Given the description of an element on the screen output the (x, y) to click on. 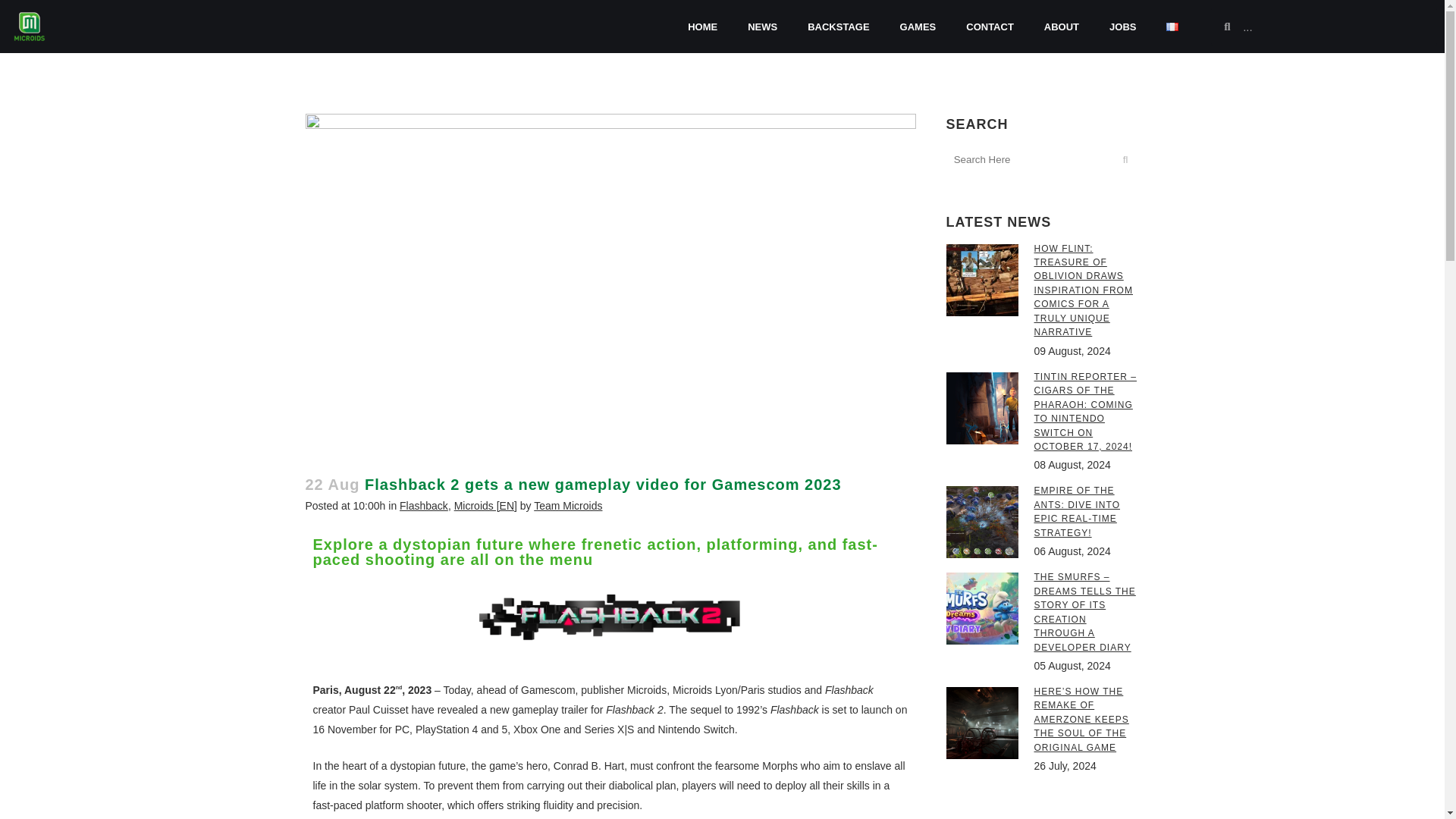
ABOUT (1061, 26)
Flashback (423, 504)
HOME (702, 26)
CONTACT (989, 26)
BACKSTAGE (837, 26)
JOBS (1122, 26)
Team Microids (568, 504)
GAMES (918, 26)
NEWS (762, 26)
